Given the description of an element on the screen output the (x, y) to click on. 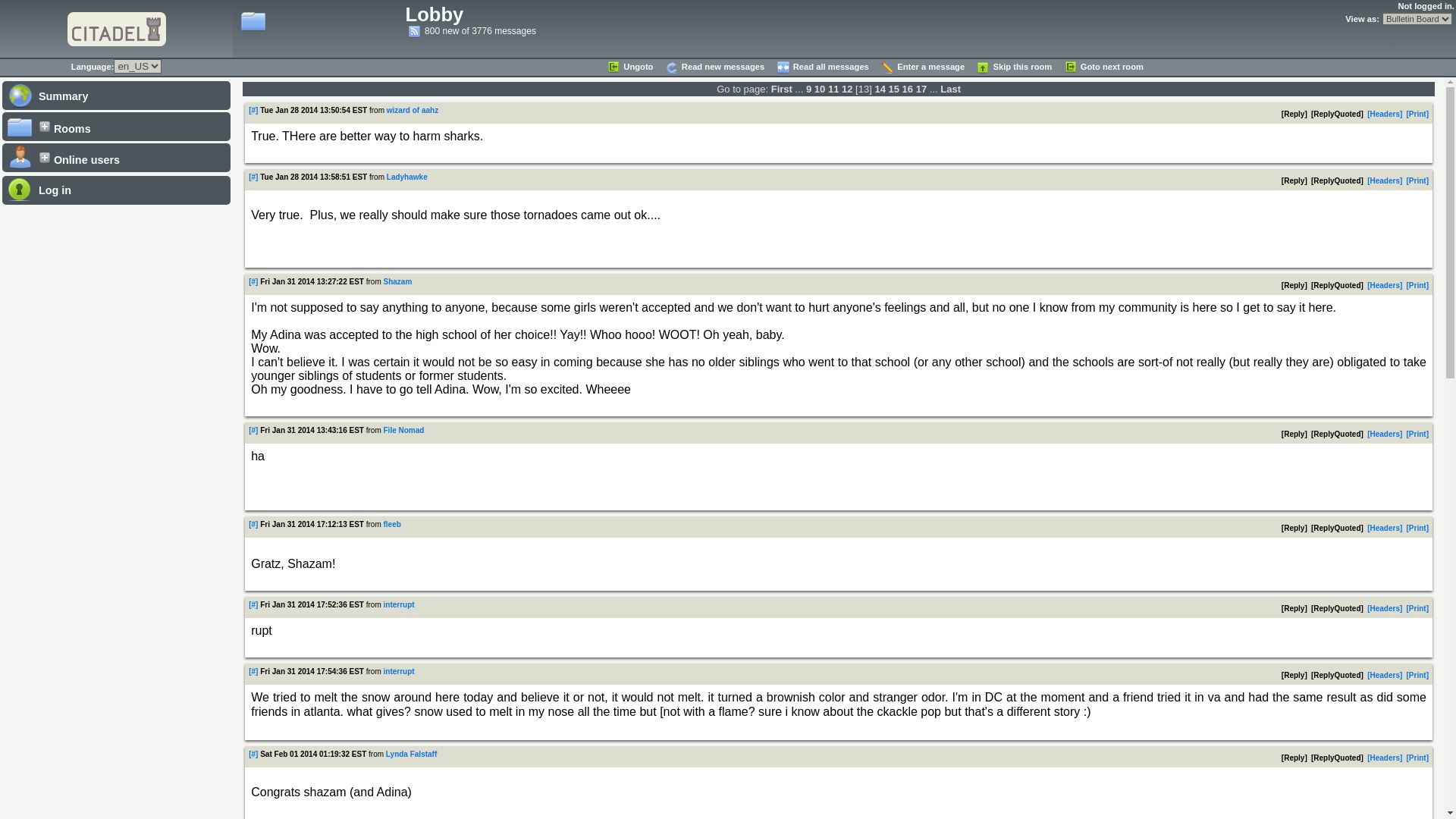
Read new messages (714, 67)
Skip this room (1013, 67)
17 (920, 89)
See who is online right now (116, 157)
10 (819, 89)
14 (880, 89)
Read all messages (821, 67)
12 (846, 89)
wizard of aahz (412, 110)
Last (950, 89)
9 (808, 89)
Enter a message (922, 67)
15 (893, 89)
Log in (116, 189)
